Given the description of an element on the screen output the (x, y) to click on. 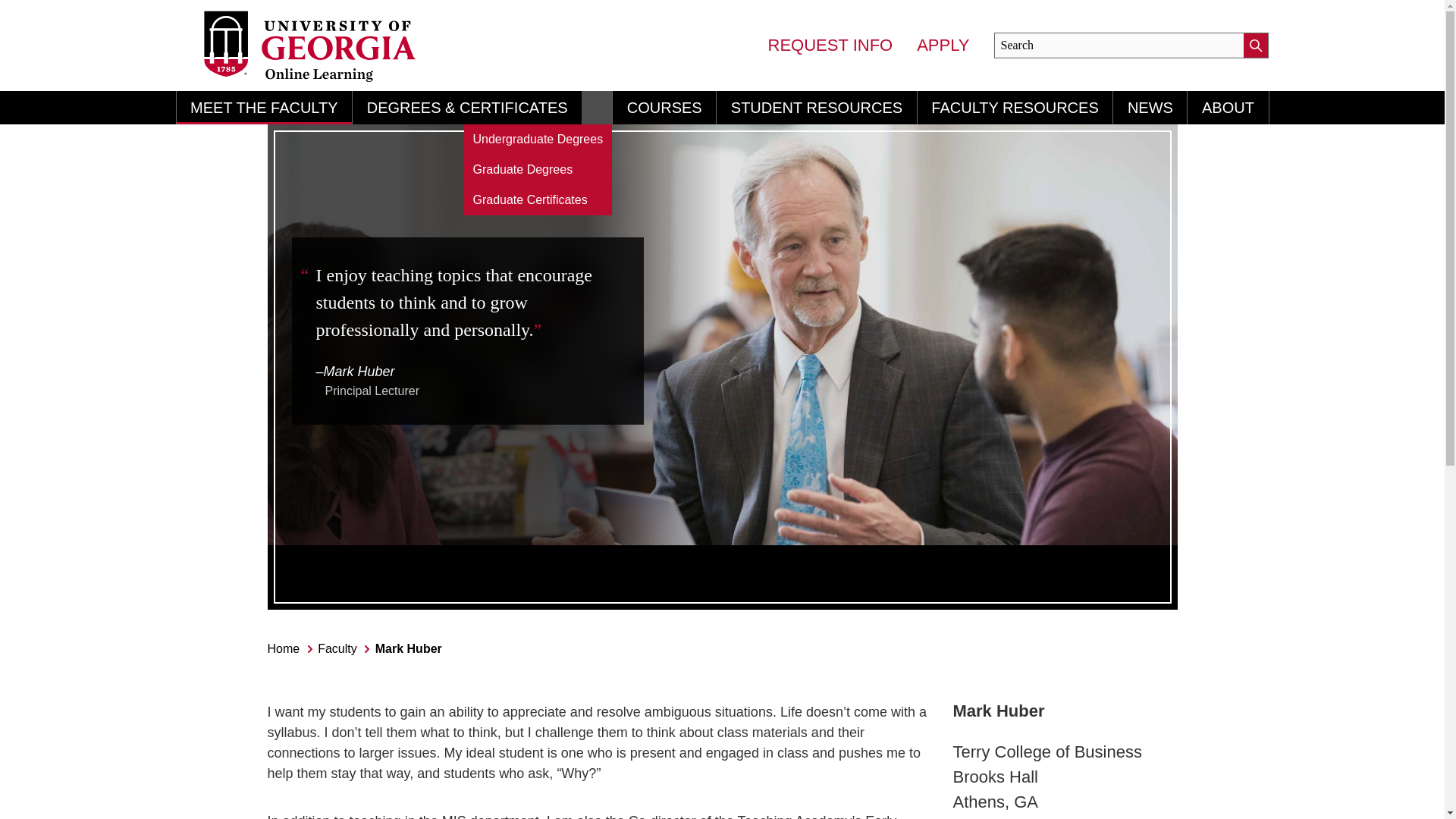
NEWS (1149, 107)
Graduate Degrees (538, 169)
COURSES (664, 107)
REQUEST INFO (830, 45)
MEET THE FACULTY (264, 107)
APPLY (943, 45)
Undergraduate Degrees (538, 139)
Open Navigation (595, 107)
Submit Search (1255, 45)
Graduate Certificates (538, 200)
STUDENT RESOURCES (815, 107)
Home (282, 648)
Mark Huber (408, 648)
Faculty (336, 648)
